Given the description of an element on the screen output the (x, y) to click on. 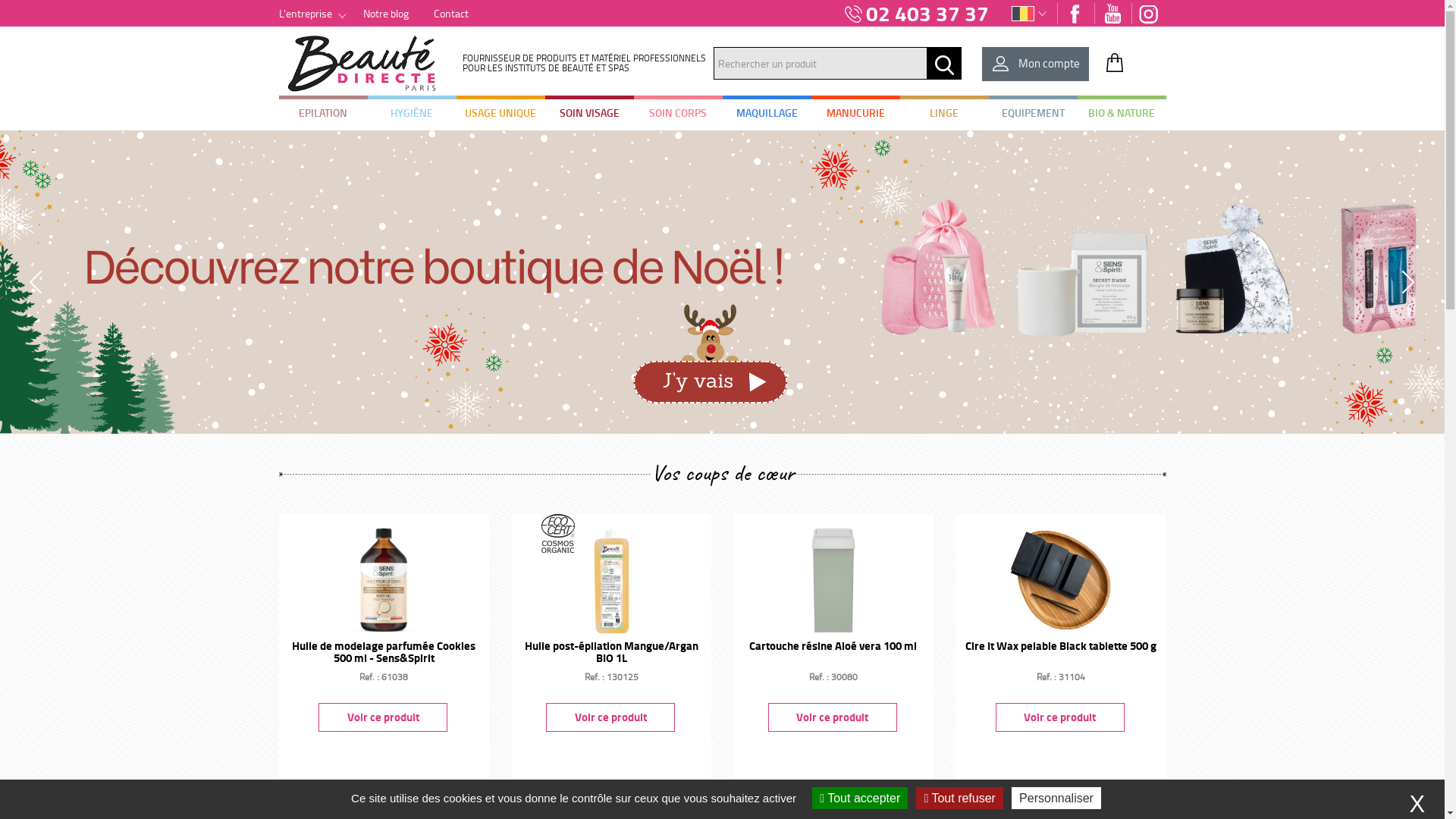
Cire It Wax pelable Black tablette 500 g Element type: hover (1060, 577)
Cire It Wax pelable Black tablette 500 g Element type: text (1060, 645)
Mon compte Element type: text (1035, 64)
Tout refuser Element type: text (959, 798)
Voir ce produit Element type: text (382, 716)
Previous Element type: text (35, 281)
Next Element type: text (1407, 281)
Voir ce produit Element type: text (610, 716)
Peggy Sage Element type: text (722, 281)
SOIN CORPS Element type: text (677, 113)
MANUCURIE Element type: text (855, 113)
Personnaliser Element type: text (1056, 798)
EPILATION Element type: text (323, 113)
MAQUILLAGE Element type: text (765, 113)
Mon panier Element type: hover (1114, 62)
SOIN VISAGE Element type: text (588, 113)
Tout accepter Element type: text (859, 798)
Me connecter Element type: text (993, 262)
USAGE UNIQUE Element type: text (500, 113)
Voir ce produit Element type: text (1059, 716)
Voir ce produit Element type: text (832, 716)
Contact Element type: text (450, 13)
EQUIPEMENT Element type: text (1032, 113)
LINGE Element type: text (943, 113)
Notre blog Element type: text (384, 13)
Chercher Element type: text (943, 65)
BIO & NATURE Element type: text (1120, 113)
